Given the description of an element on the screen output the (x, y) to click on. 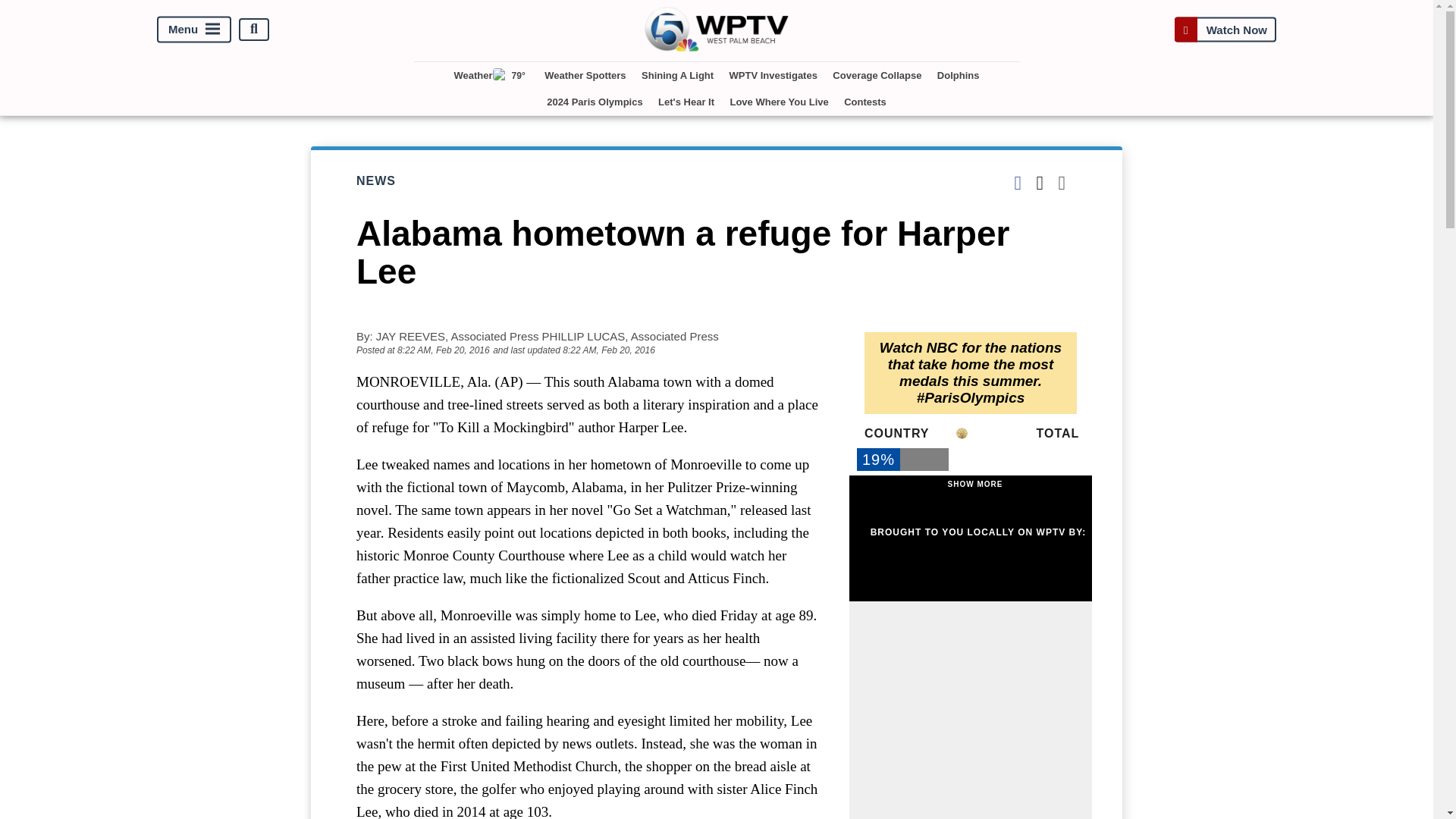
Watch Now (1224, 29)
Menu (194, 28)
